Given the description of an element on the screen output the (x, y) to click on. 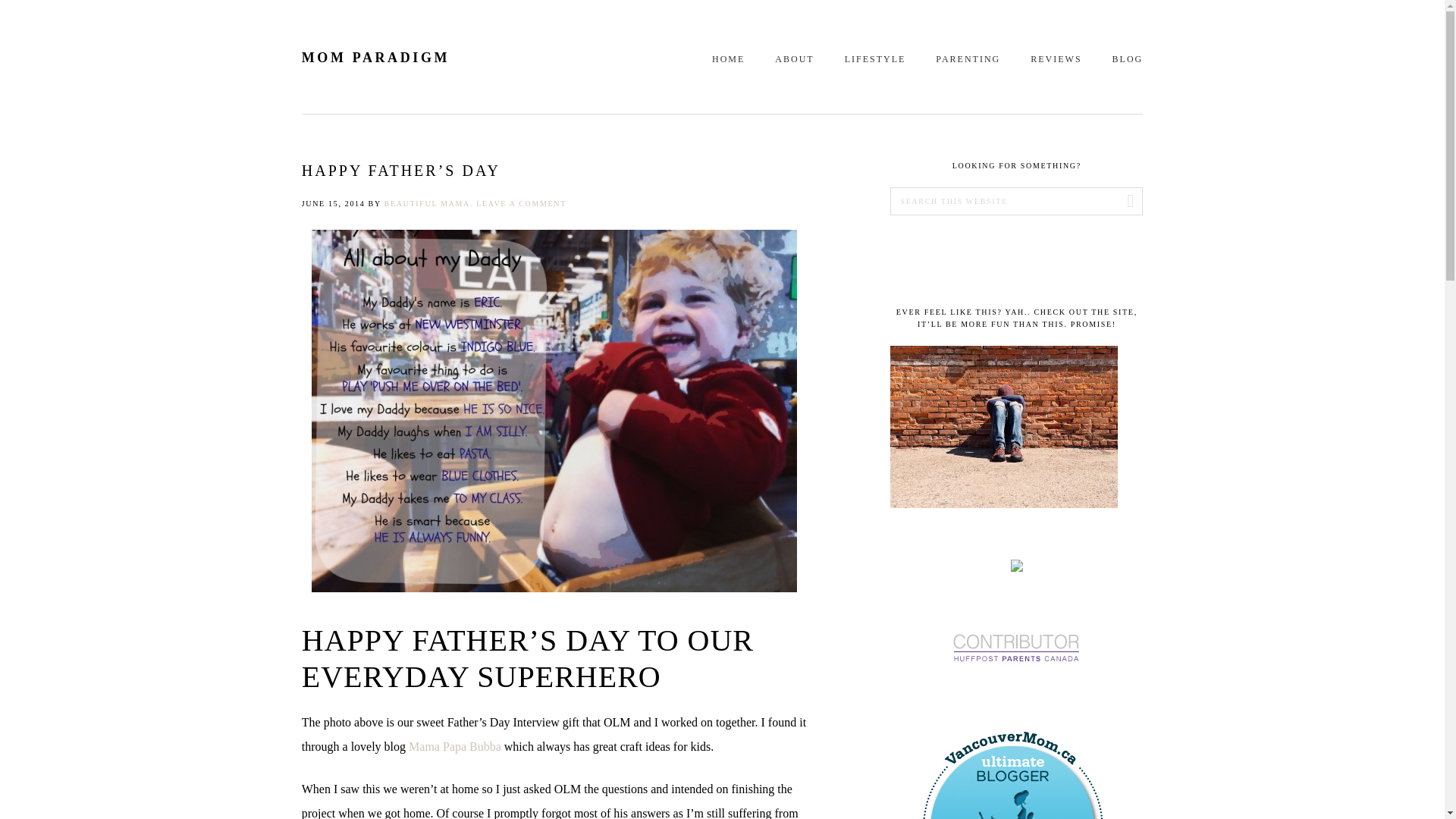
LEAVE A COMMENT (521, 203)
Search (1123, 201)
BEAUTIFUL MAMA. (428, 203)
Mama Papa Bubba (454, 746)
Search (1123, 201)
PARENTING (968, 57)
Search (1123, 201)
MOM PARADIGM (375, 57)
